Given the description of an element on the screen output the (x, y) to click on. 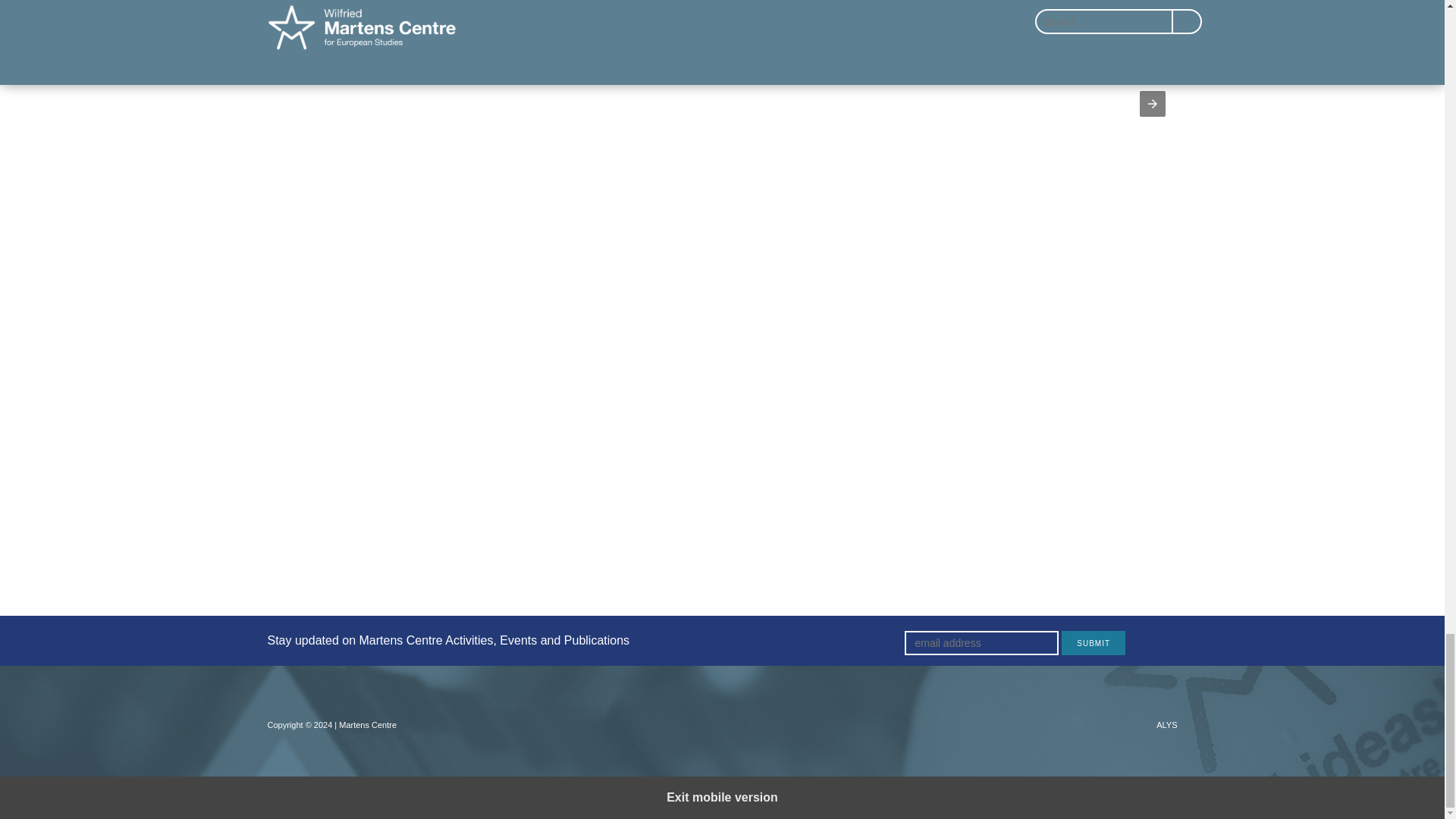
Submit (1093, 642)
Submit (1093, 642)
ALYS (1166, 724)
